Given the description of an element on the screen output the (x, y) to click on. 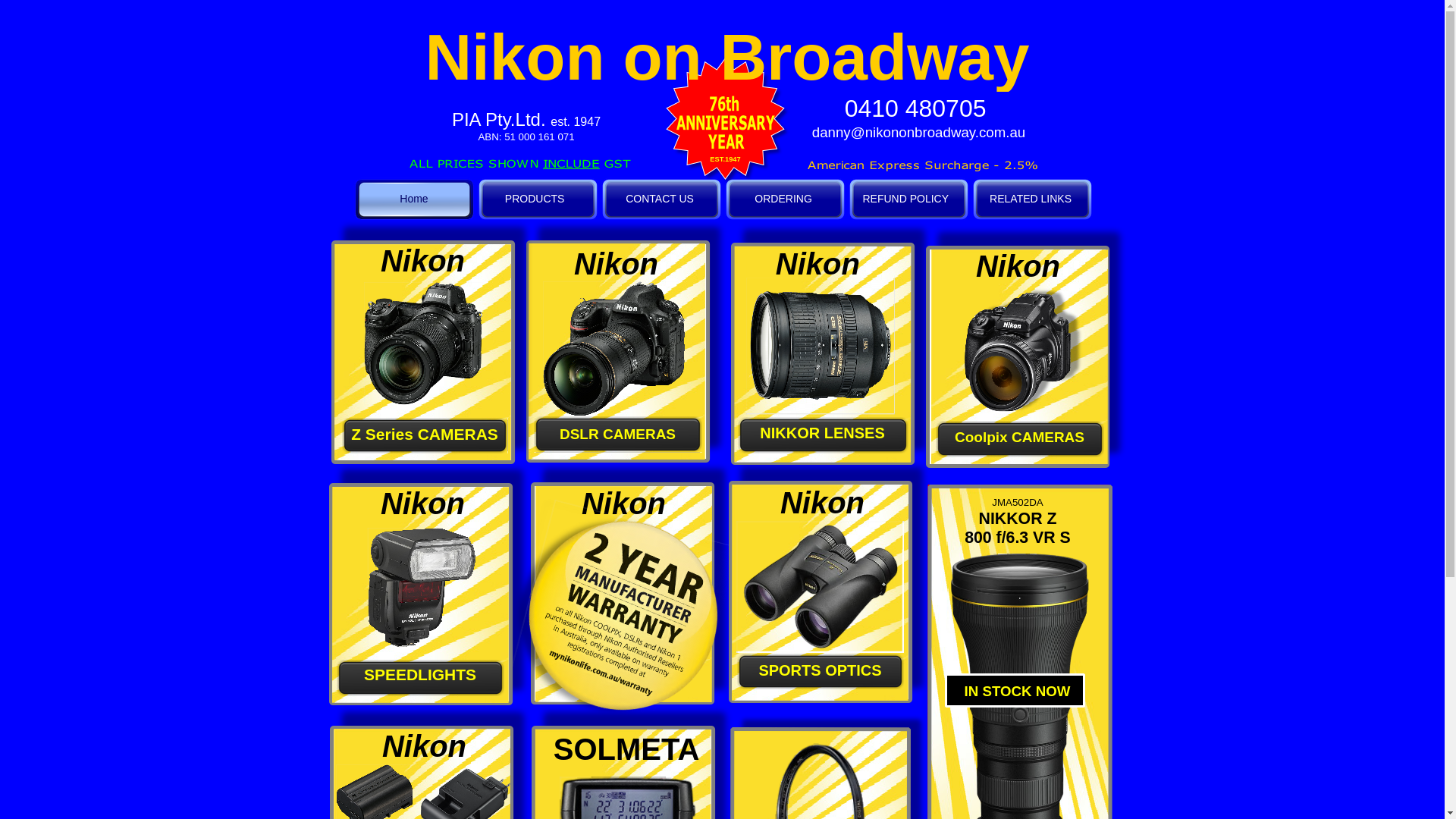
SPORTS OPTICS Element type: text (820, 671)
Home Element type: text (413, 199)
SPEEDLIGHTS Element type: text (420, 677)
NIKKOR LENSES Element type: text (822, 435)
PRODUCTS   Element type: text (537, 199)
ORDERING  Element type: text (785, 199)
CONTACT US  Element type: text (660, 199)
RELATED LINKS  Element type: text (1032, 199)
REFUND POLICY   Element type: text (907, 199)
Z Series CAMERAS Element type: text (424, 435)
DSLR CAMERAS Element type: text (617, 434)
Coolpix CAMERAS Element type: text (1019, 438)
